Given the description of an element on the screen output the (x, y) to click on. 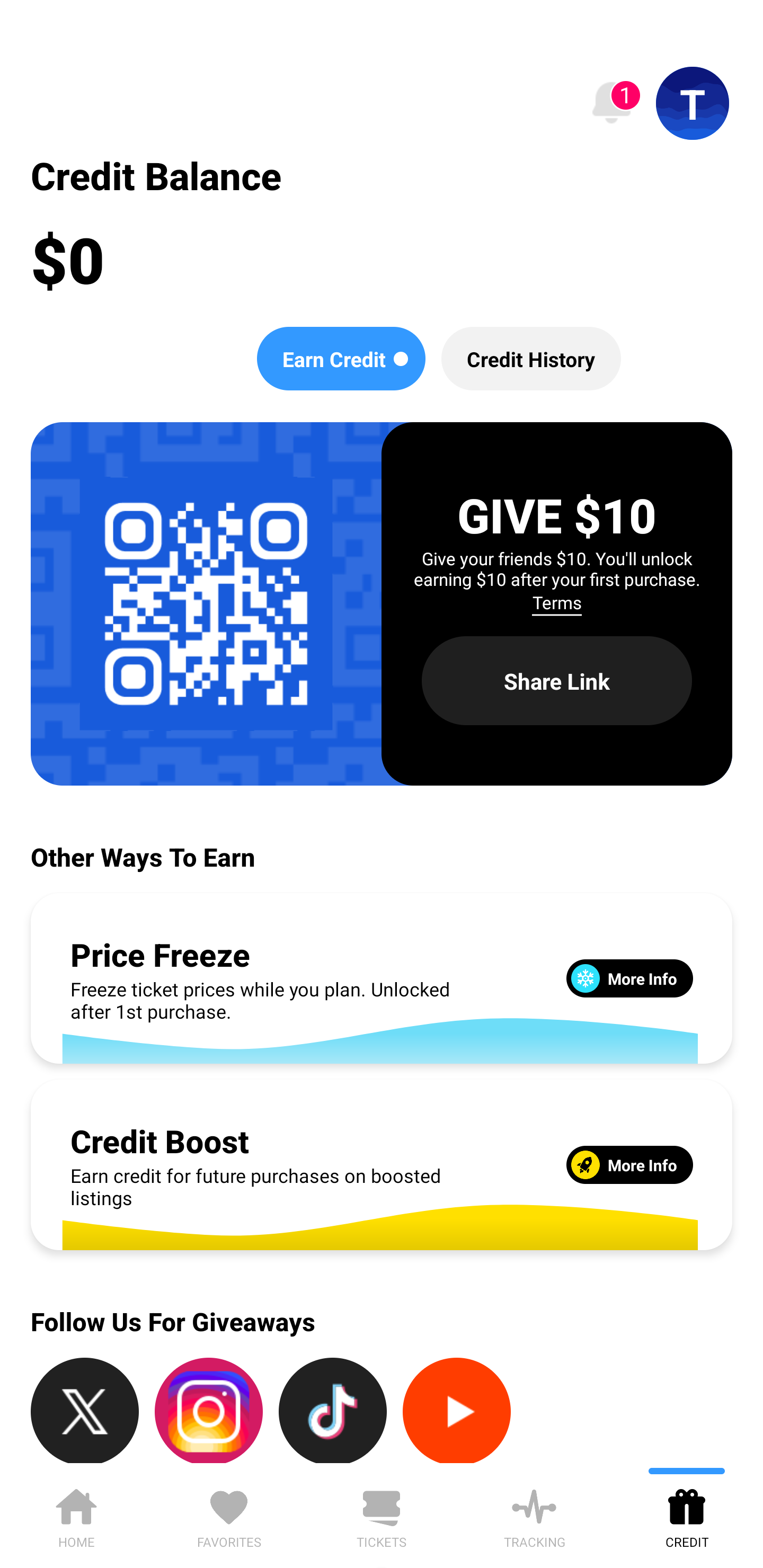
T (692, 103)
1 (611, 103)
Earn Credit (341, 358)
Credit History (531, 358)
Share Link (556, 680)
More Info (629, 978)
More Info (629, 1164)
X (84, 1409)
Instagram (208, 1409)
TikTok (332, 1409)
YouTube (456, 1409)
HOME (76, 1515)
FAVORITES (228, 1515)
TICKETS (381, 1515)
TRACKING (533, 1515)
CREDIT (686, 1515)
